Given the description of an element on the screen output the (x, y) to click on. 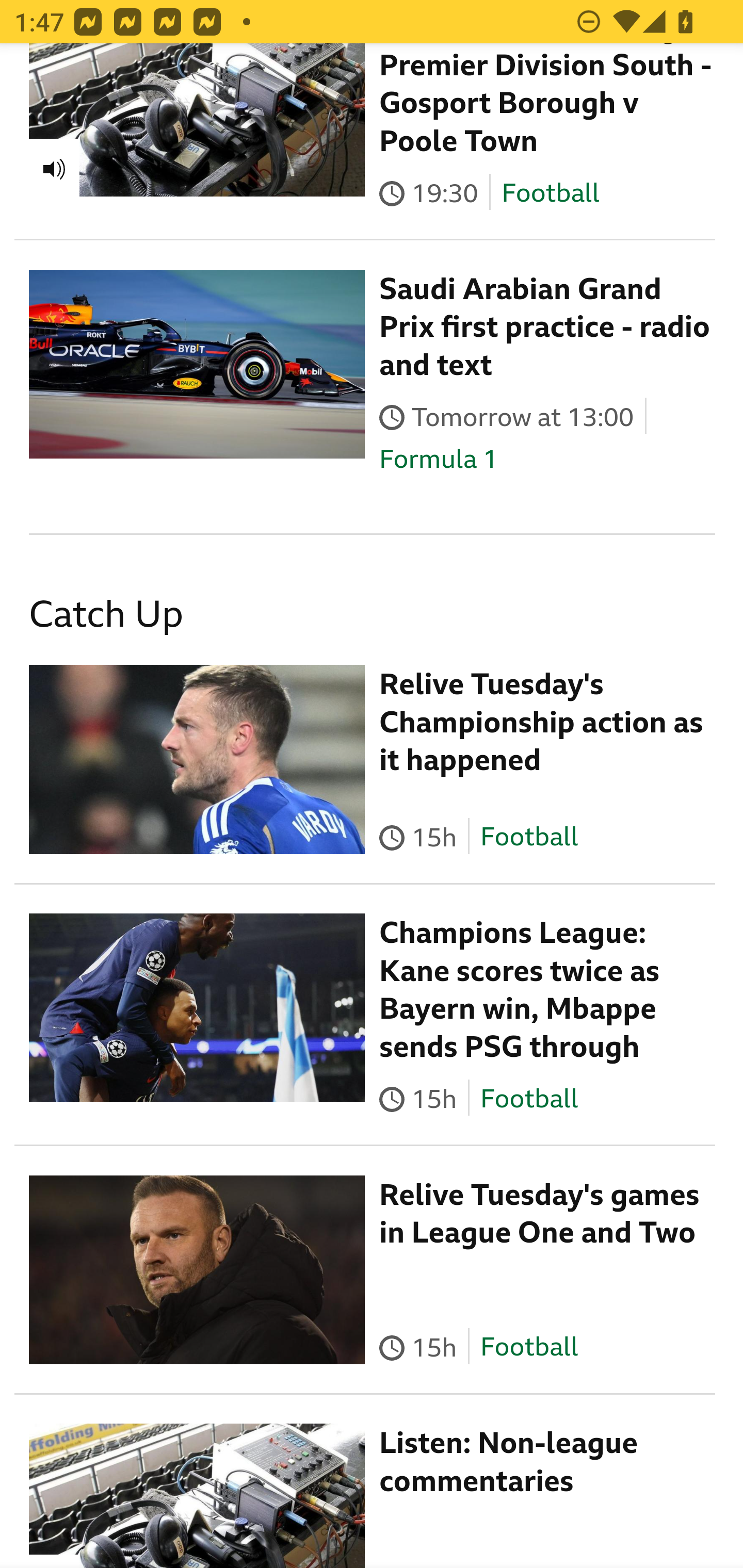
Football (550, 194)
Formula 1 (438, 459)
Football (528, 837)
Football (528, 1099)
Relive Tuesday's games in League One and Two (539, 1215)
Football (528, 1348)
Listen: Non-league commentaries (508, 1463)
